Given the description of an element on the screen output the (x, y) to click on. 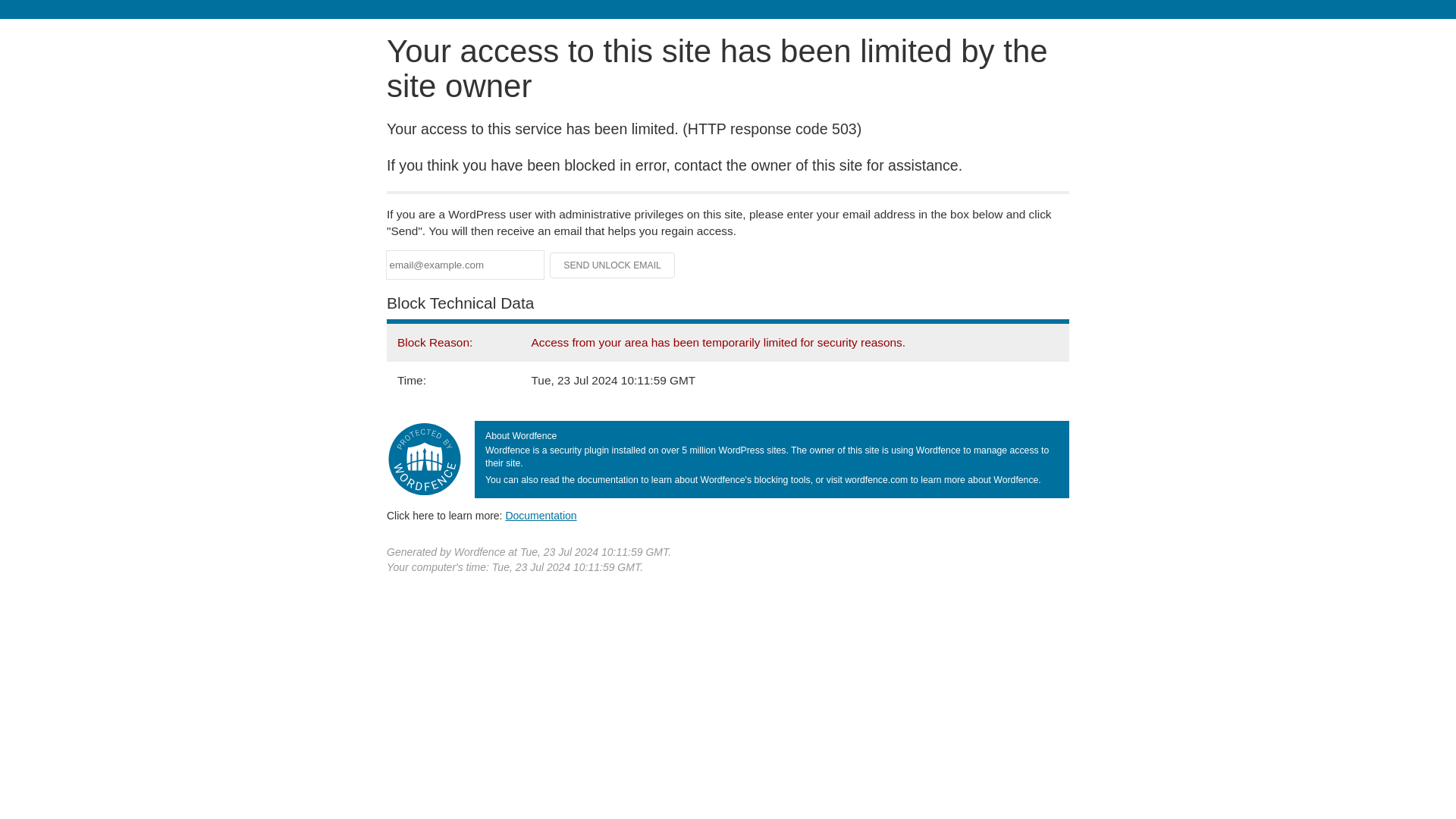
Send Unlock Email (612, 265)
Send Unlock Email (612, 265)
Documentation (540, 515)
